Given the description of an element on the screen output the (x, y) to click on. 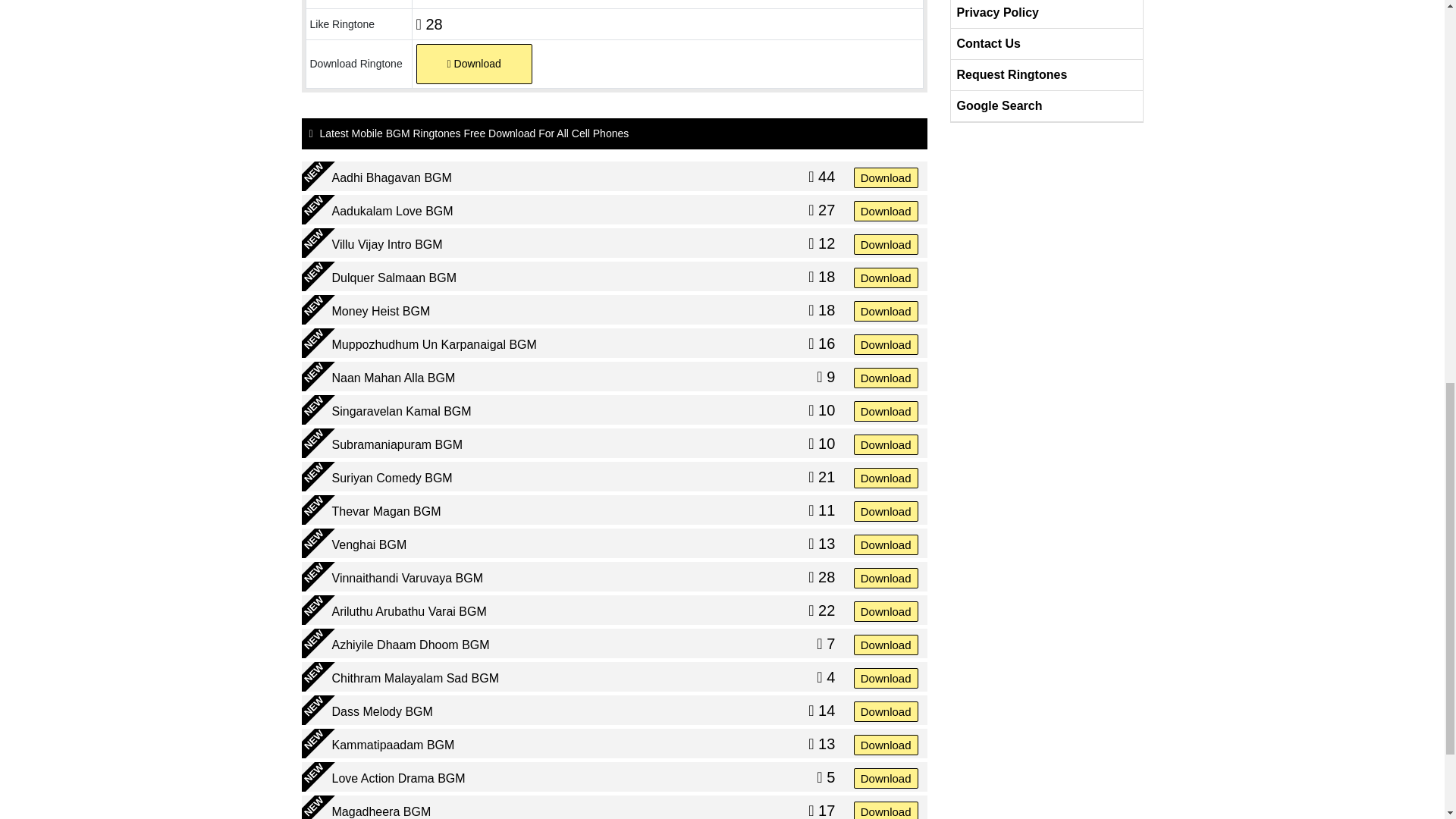
Email (557, 2)
WhatsApp (427, 2)
Download (885, 209)
Dulquer Salmaan BGM (394, 278)
Download (472, 64)
Download (885, 243)
Facebook (454, 2)
WhatsApp (427, 2)
Pinterest (505, 2)
27 (821, 209)
